Given the description of an element on the screen output the (x, y) to click on. 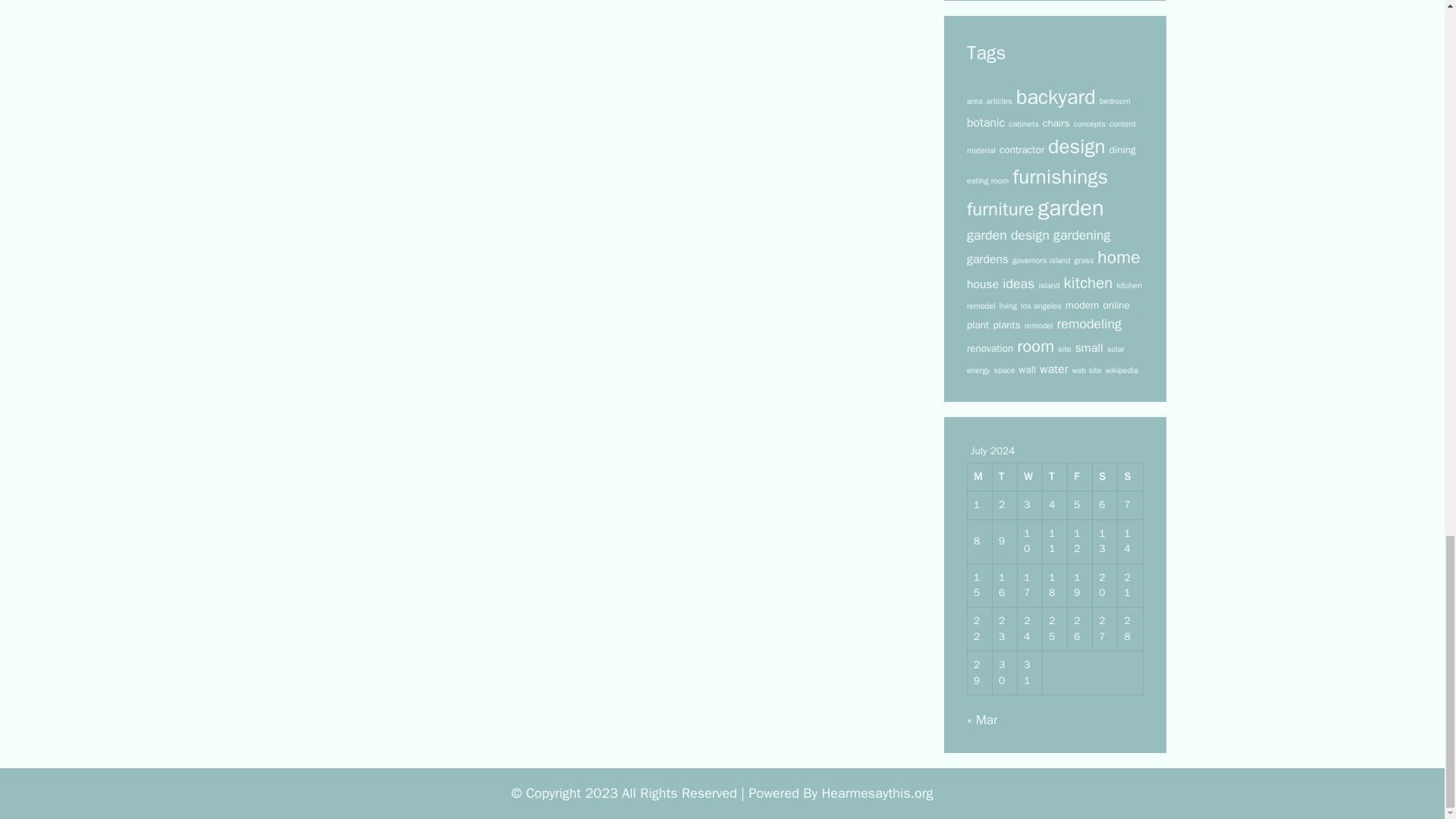
Thursday (1054, 477)
Tuesday (1004, 477)
Wednesday (1029, 477)
Sunday (1130, 477)
Monday (980, 477)
Saturday (1105, 477)
Friday (1080, 477)
